Given the description of an element on the screen output the (x, y) to click on. 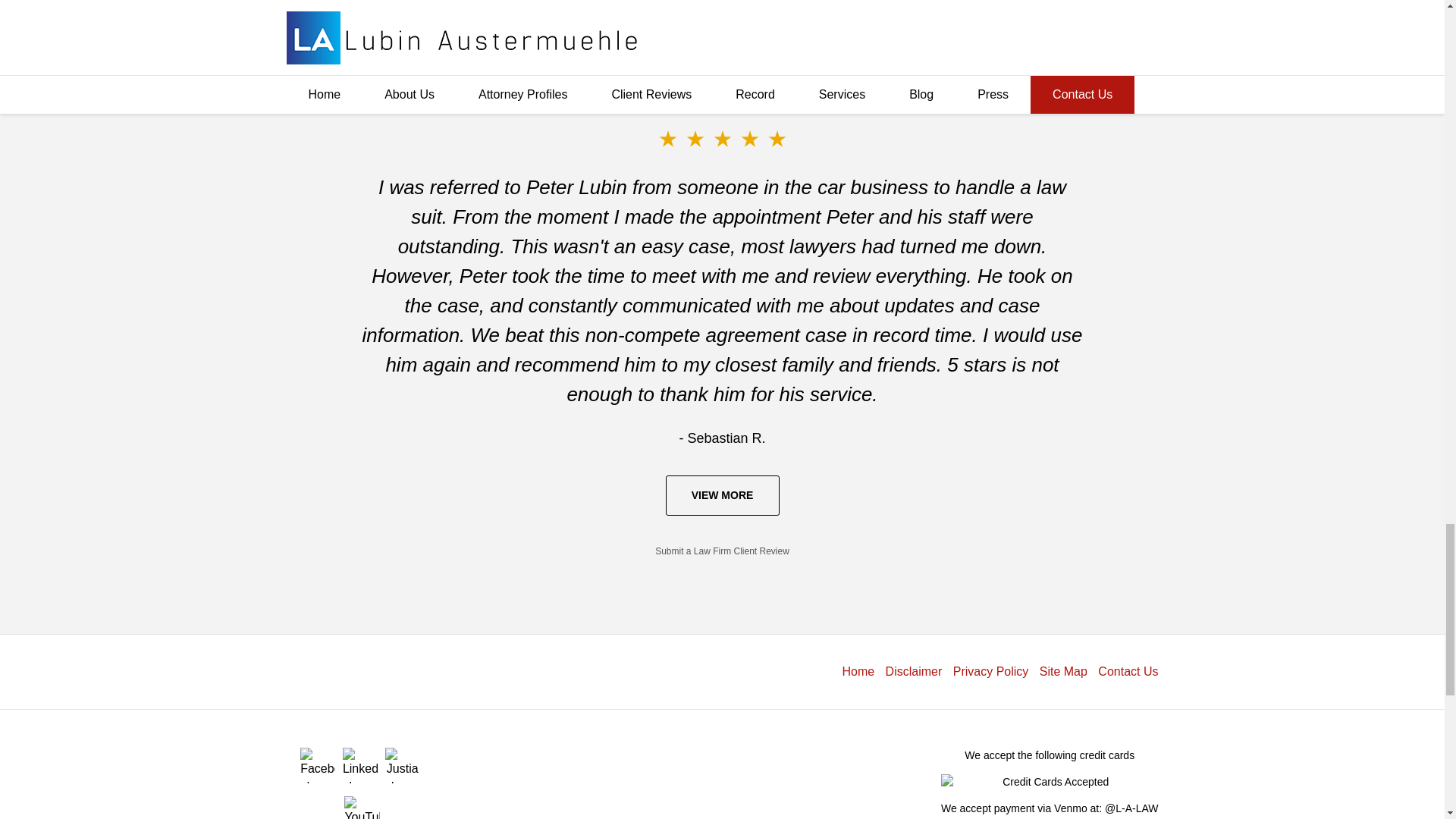
Facebook (316, 764)
YouTube (360, 807)
LinkedIn (359, 764)
Justia (402, 764)
